Given the description of an element on the screen output the (x, y) to click on. 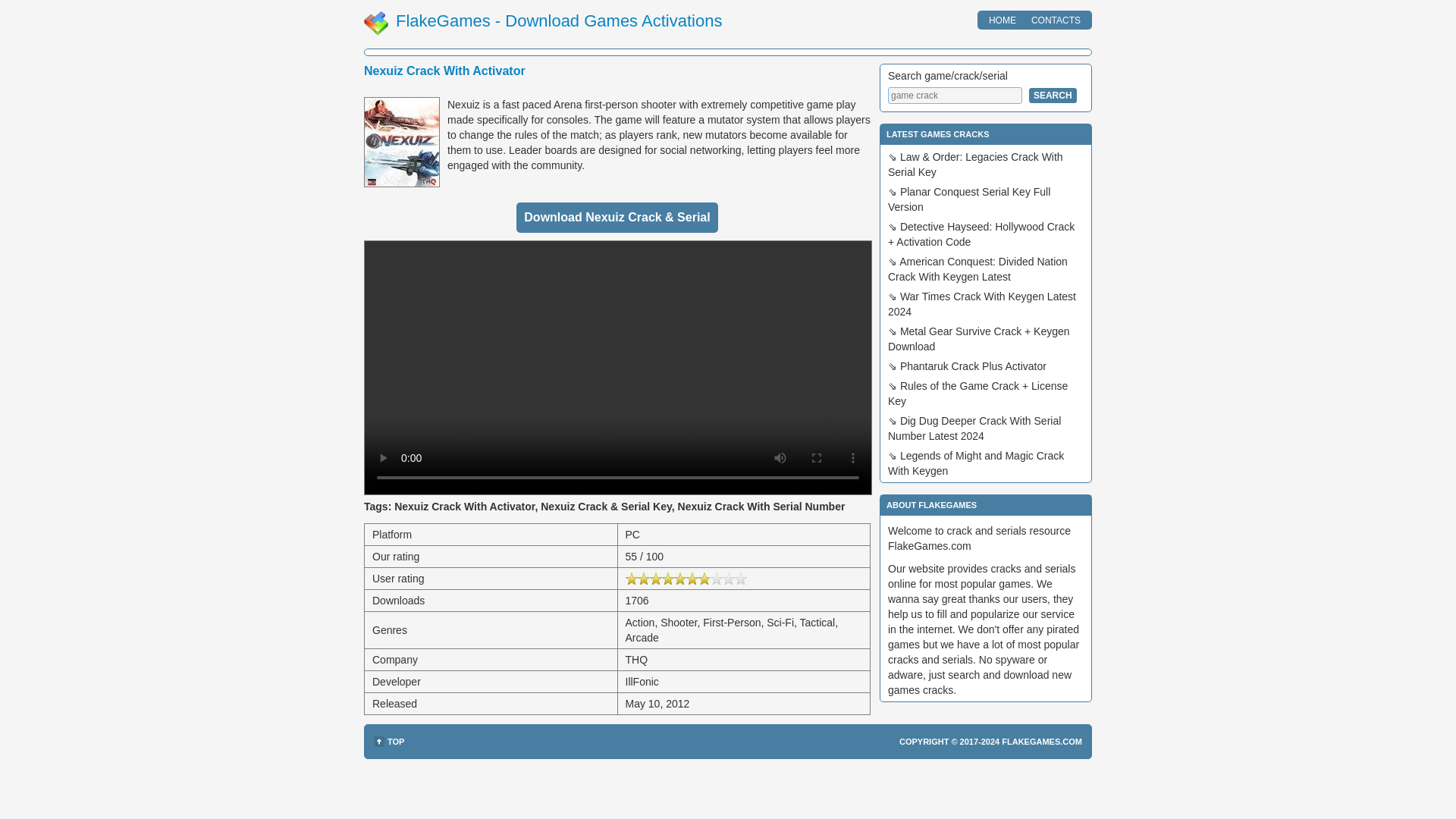
FlakeGames - Download Games Activations (559, 20)
Legends of Might and Magic Crack With Keygen (976, 462)
Phantaruk Crack Plus Activator (972, 366)
HOME (1002, 19)
Dig Dug Deeper Crack With Serial Number Latest 2024 (974, 428)
Planar Conquest Serial Key Full Version (968, 198)
FLAKEGAMES.COM (1041, 741)
TOP (389, 741)
CONTACTS (1055, 19)
War Times Crack With Keygen Latest 2024 (981, 303)
